Given the description of an element on the screen output the (x, y) to click on. 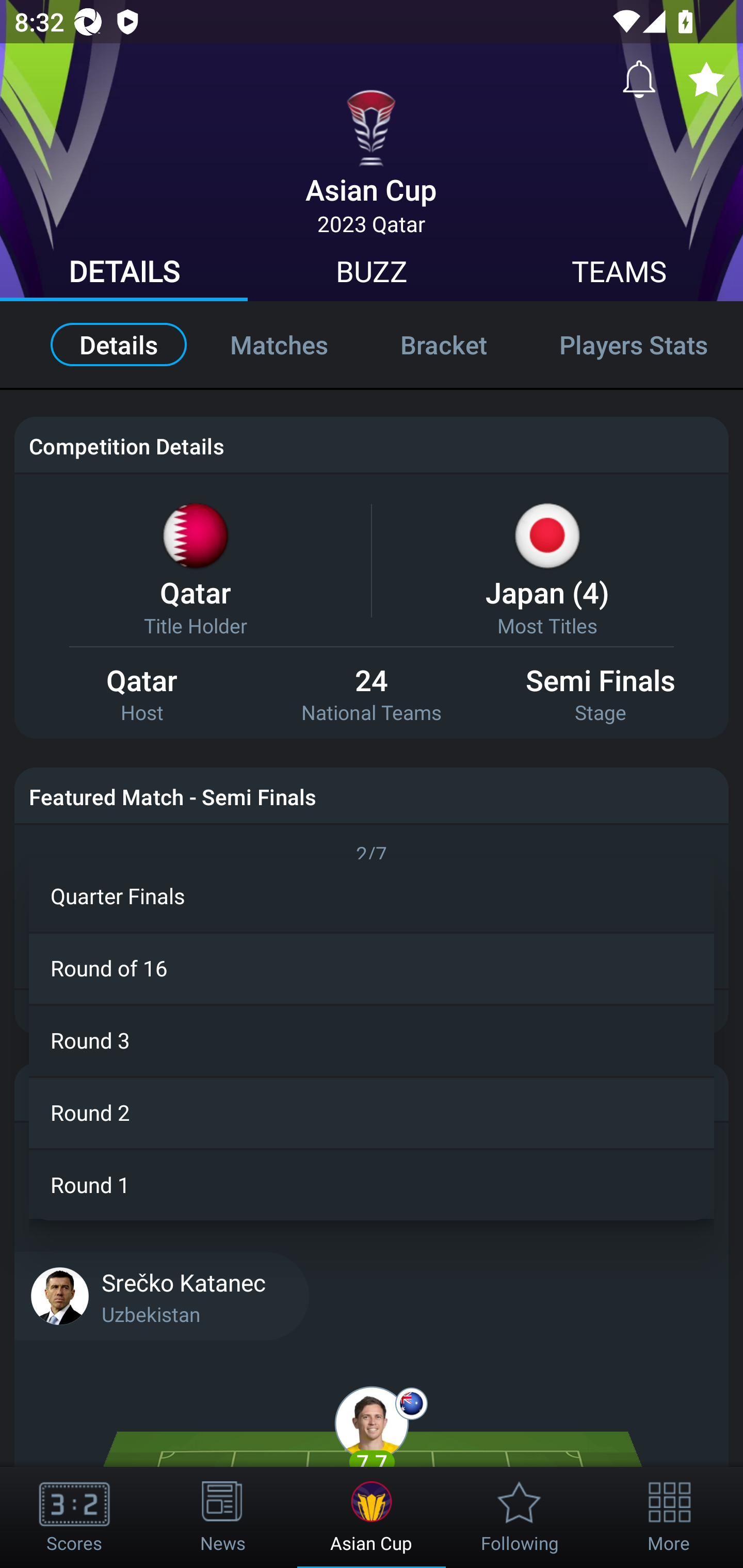
Quarter Finals (371, 895)
Round of 16 (371, 967)
Round 3 (371, 1039)
Round 2 (371, 1111)
Round 1 (371, 1183)
